Given the description of an element on the screen output the (x, y) to click on. 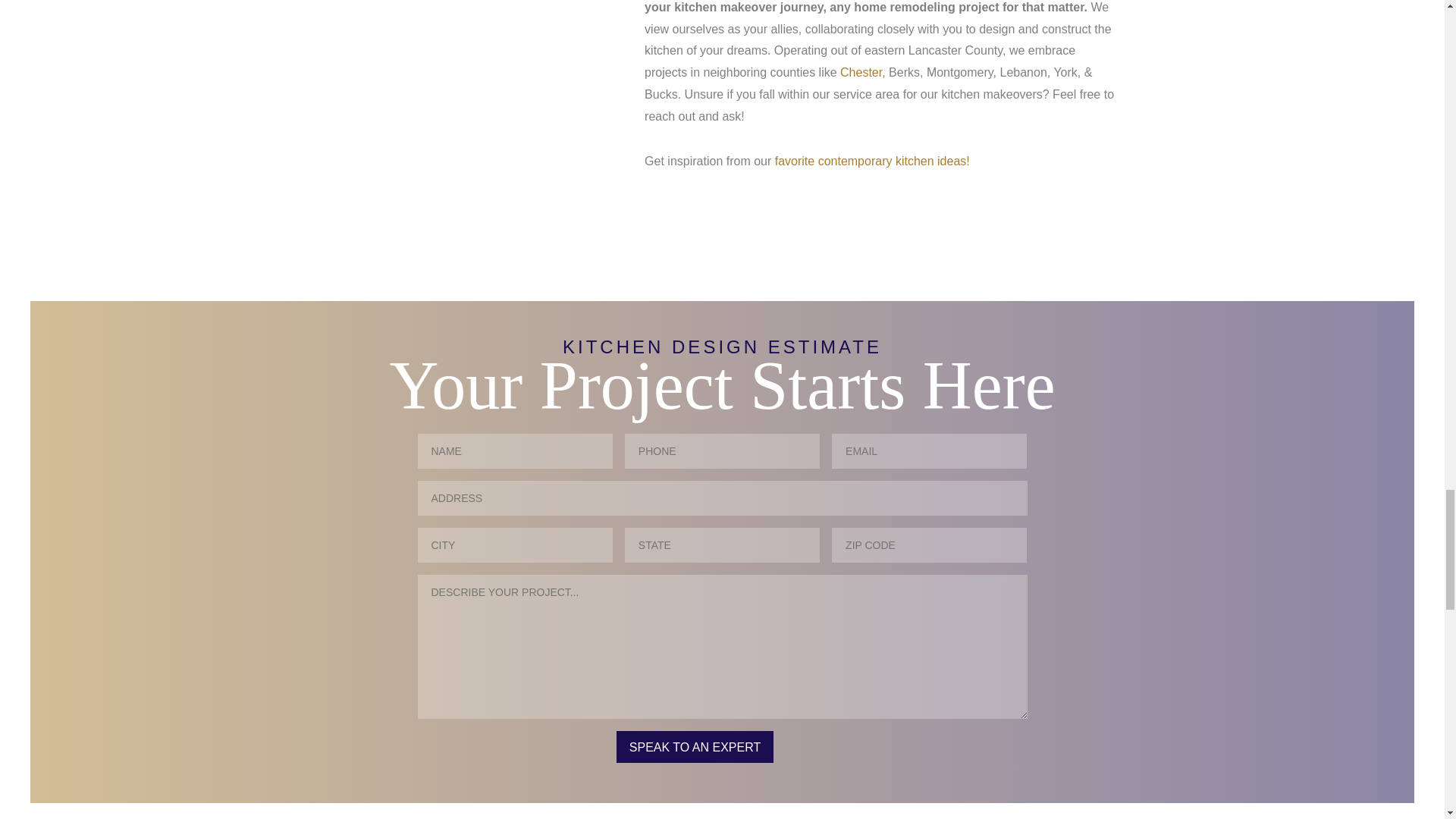
Speak to an Expert (694, 746)
